Given the description of an element on the screen output the (x, y) to click on. 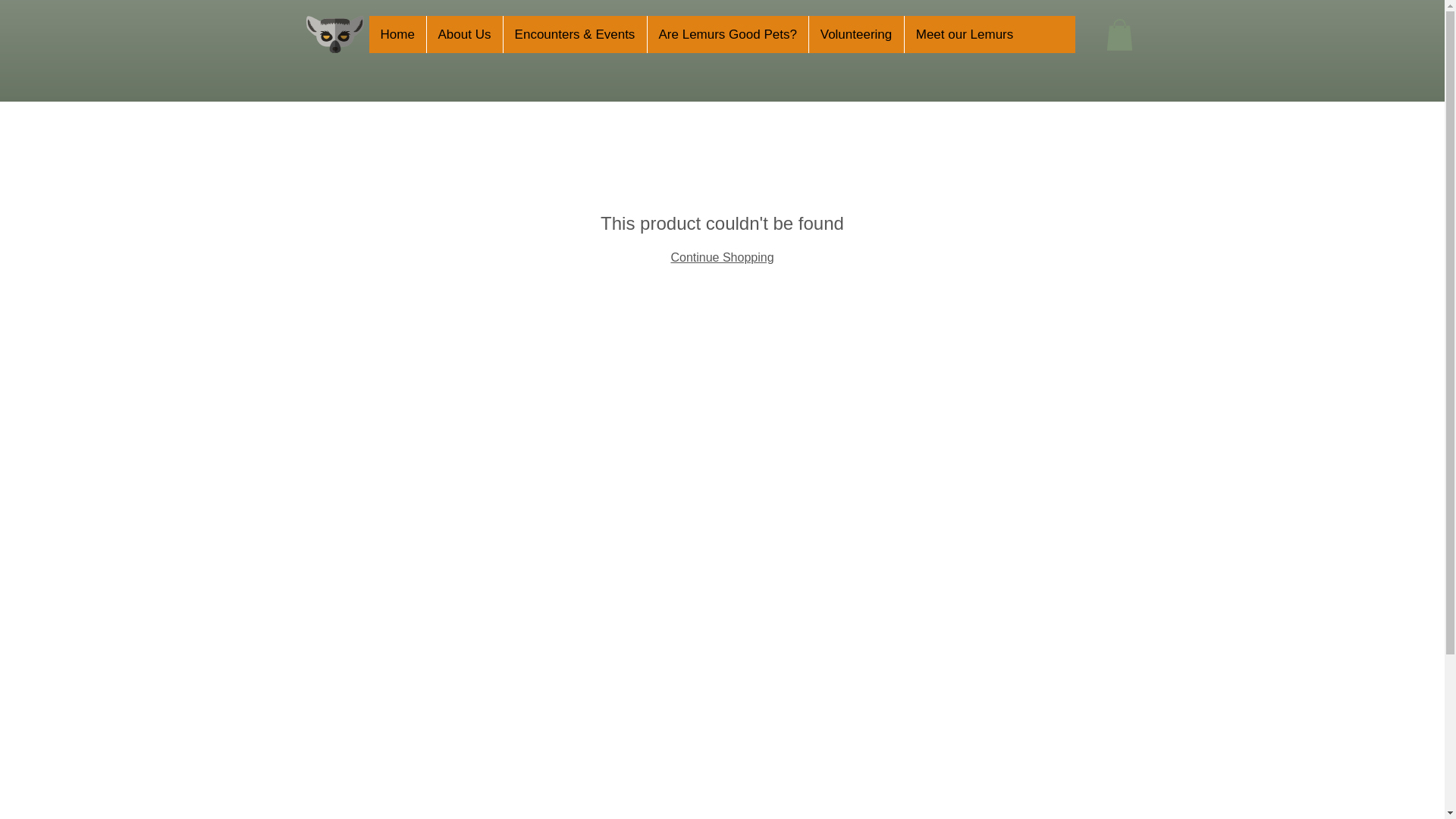
Are Lemurs Good Pets? (727, 34)
About Us (464, 34)
Continue Shopping (721, 256)
Home (396, 34)
Volunteering (856, 34)
